Given the description of an element on the screen output the (x, y) to click on. 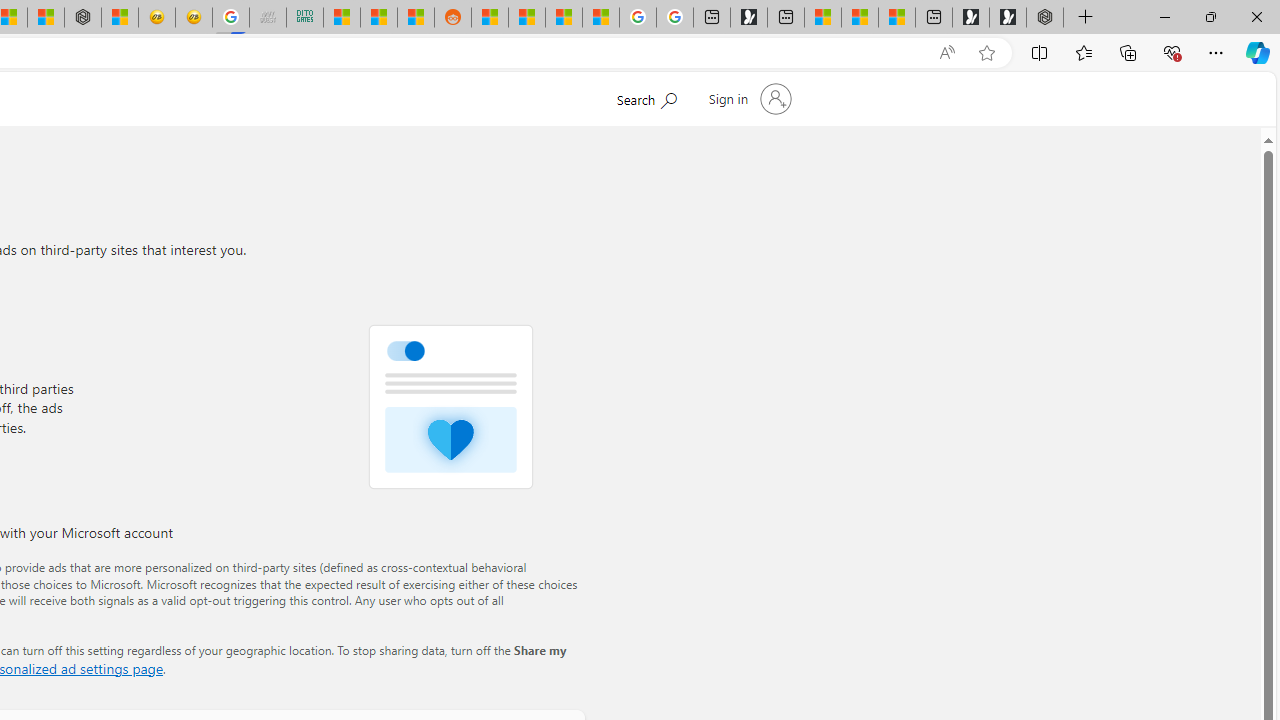
These 3 Stocks Pay You More Than 5% to Own Them (897, 17)
Play Free Online Games | Games from Microsoft Start (1007, 17)
Sign in to your account (748, 98)
Nordace - #1 Japanese Best-Seller - Siena Smart Backpack (83, 17)
Search Microsoft.com (646, 97)
